Given the description of an element on the screen output the (x, y) to click on. 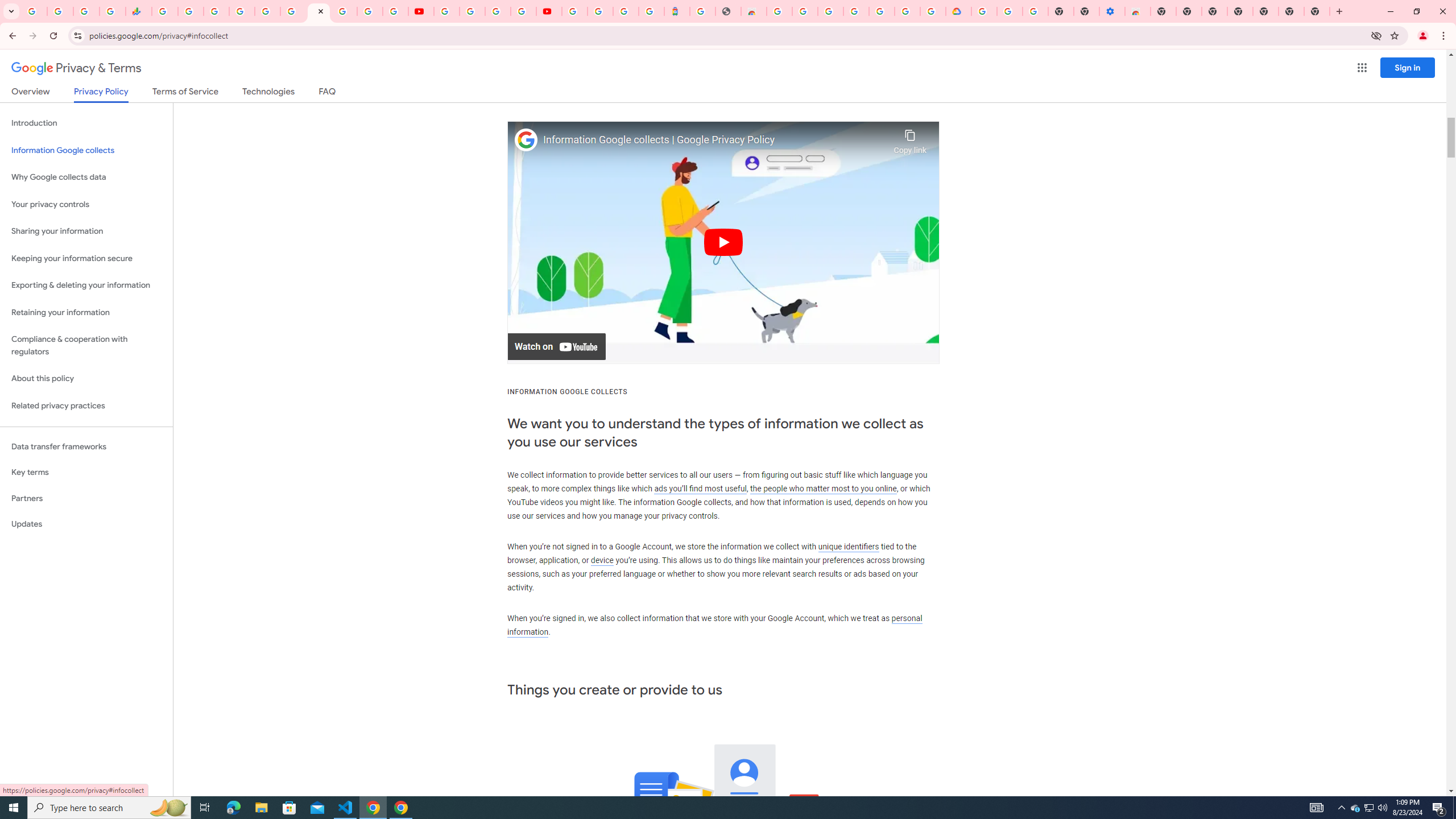
Sign in - Google Accounts (830, 11)
Google Workspace Admin Community (34, 11)
Chrome Web Store - Accessibility extensions (1137, 11)
Chrome Web Store - Household (753, 11)
Sign in - Google Accounts (907, 11)
New Tab (1265, 11)
YouTube (421, 11)
Sign in (1407, 67)
Google apps (1362, 67)
